Given the description of an element on the screen output the (x, y) to click on. 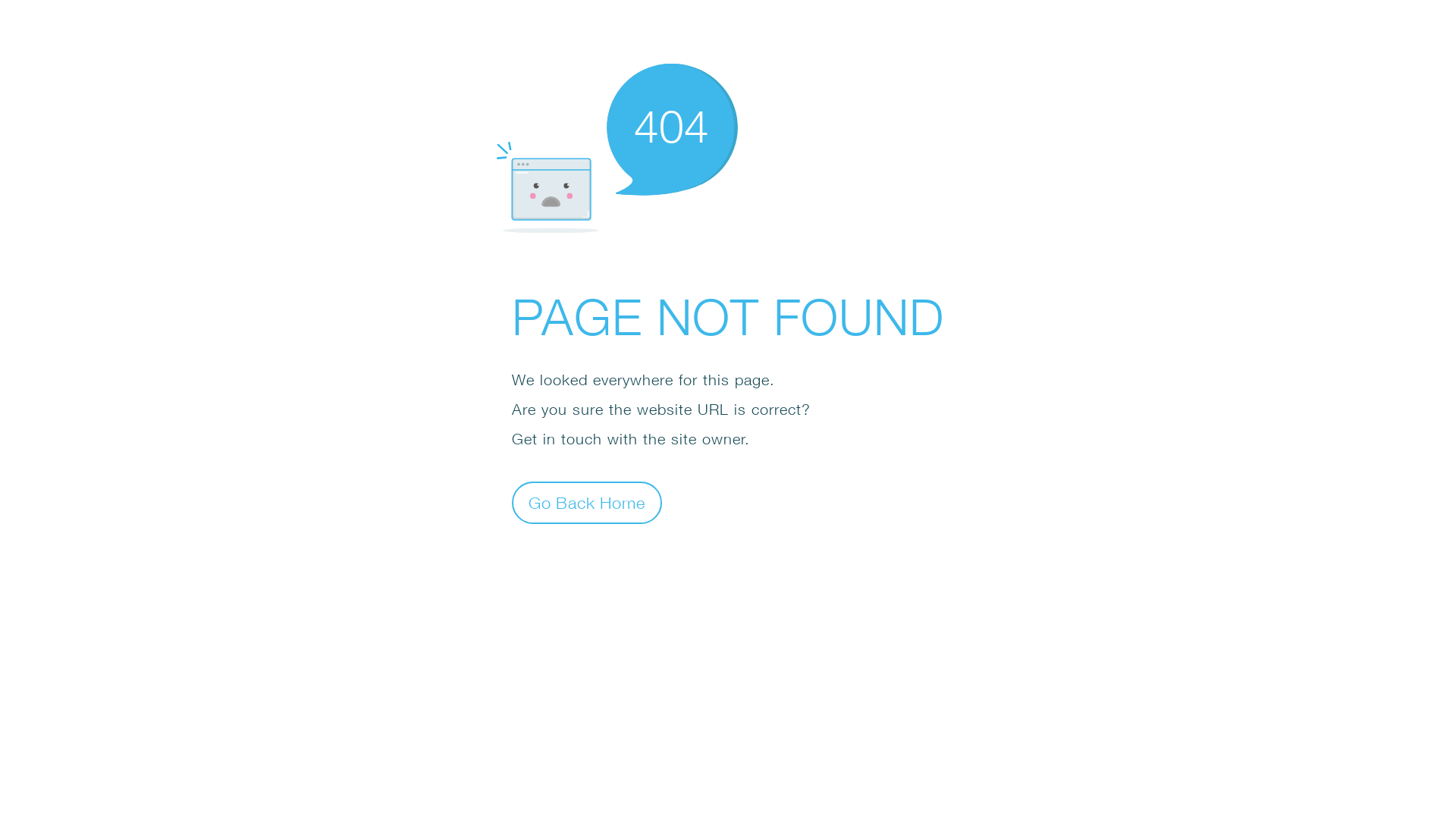
Go Back Home Element type: text (586, 502)
